Given the description of an element on the screen output the (x, y) to click on. 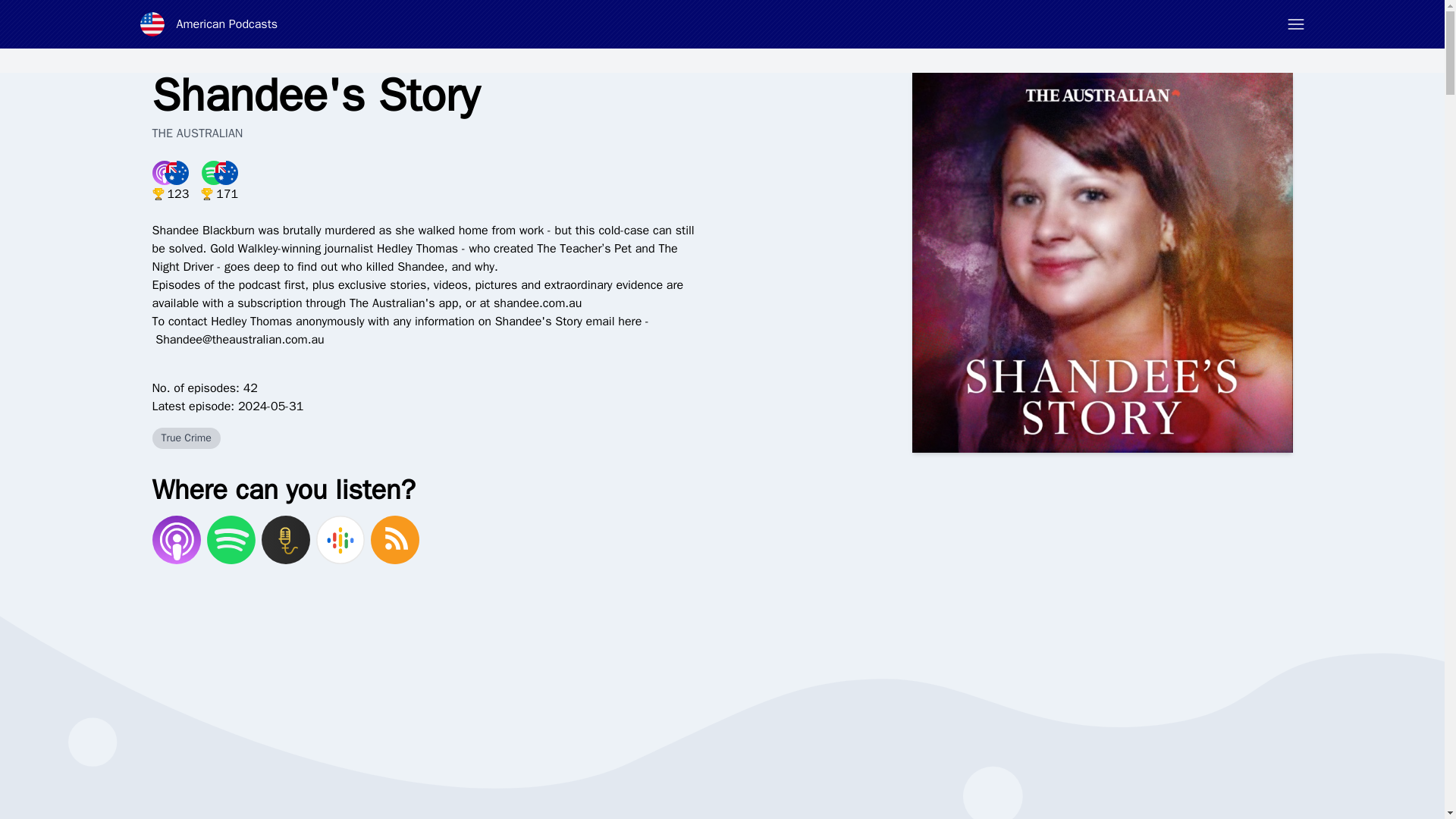
American Podcasts (208, 24)
True Crime (185, 437)
American Podcasts (208, 24)
